Given the description of an element on the screen output the (x, y) to click on. 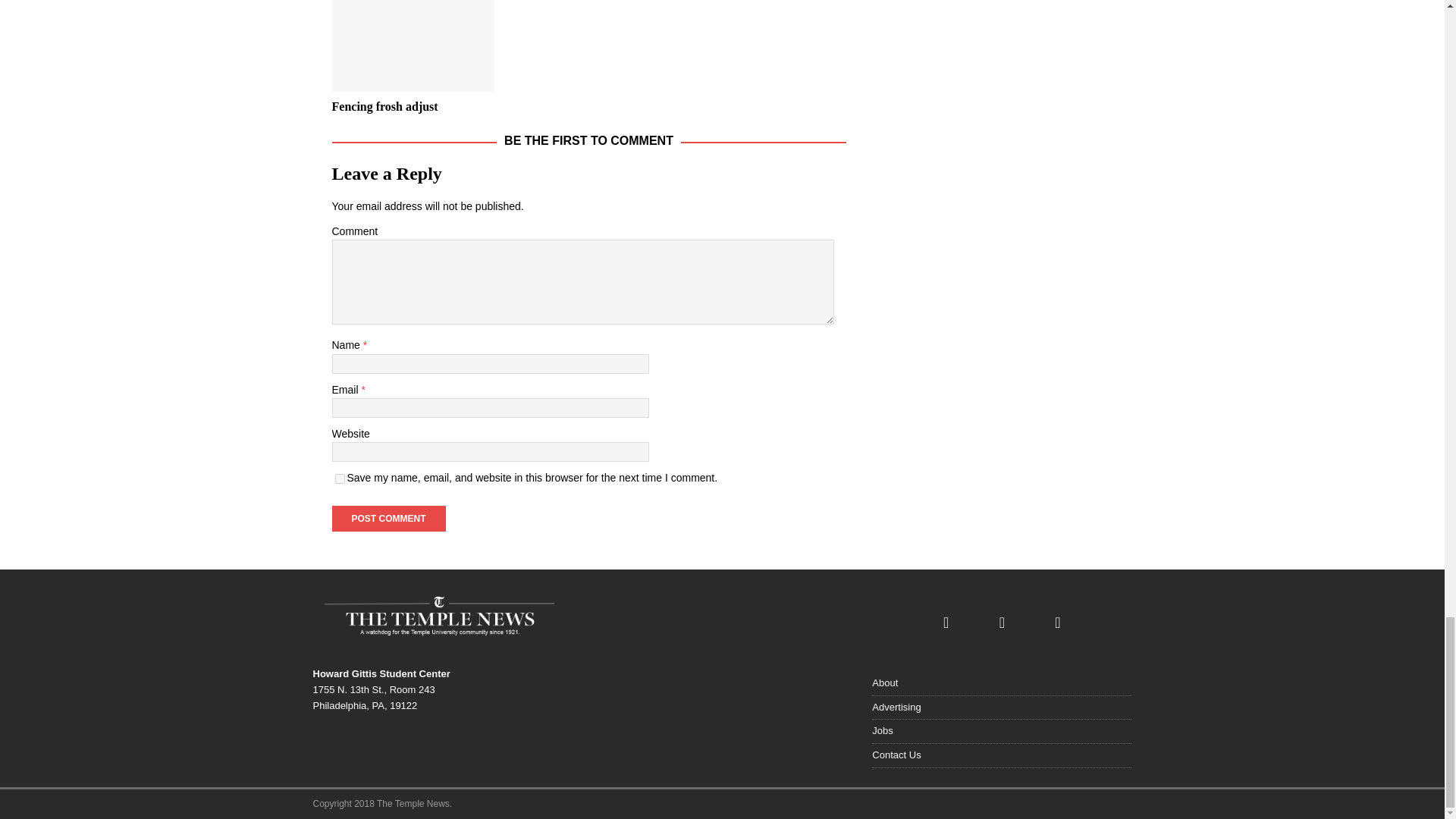
yes (339, 479)
Post Comment (388, 518)
